Given the description of an element on the screen output the (x, y) to click on. 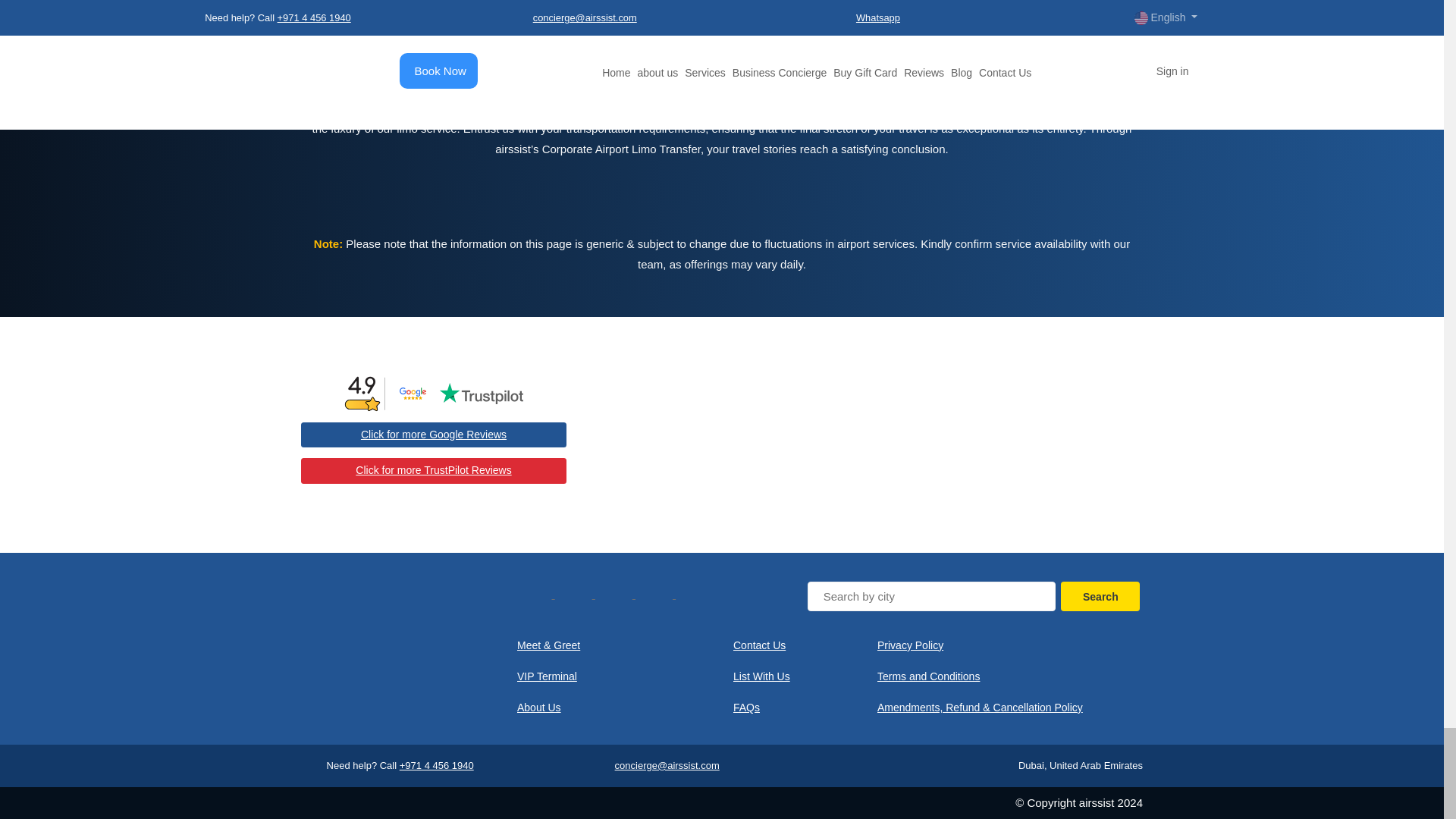
Search (1100, 595)
